Given the description of an element on the screen output the (x, y) to click on. 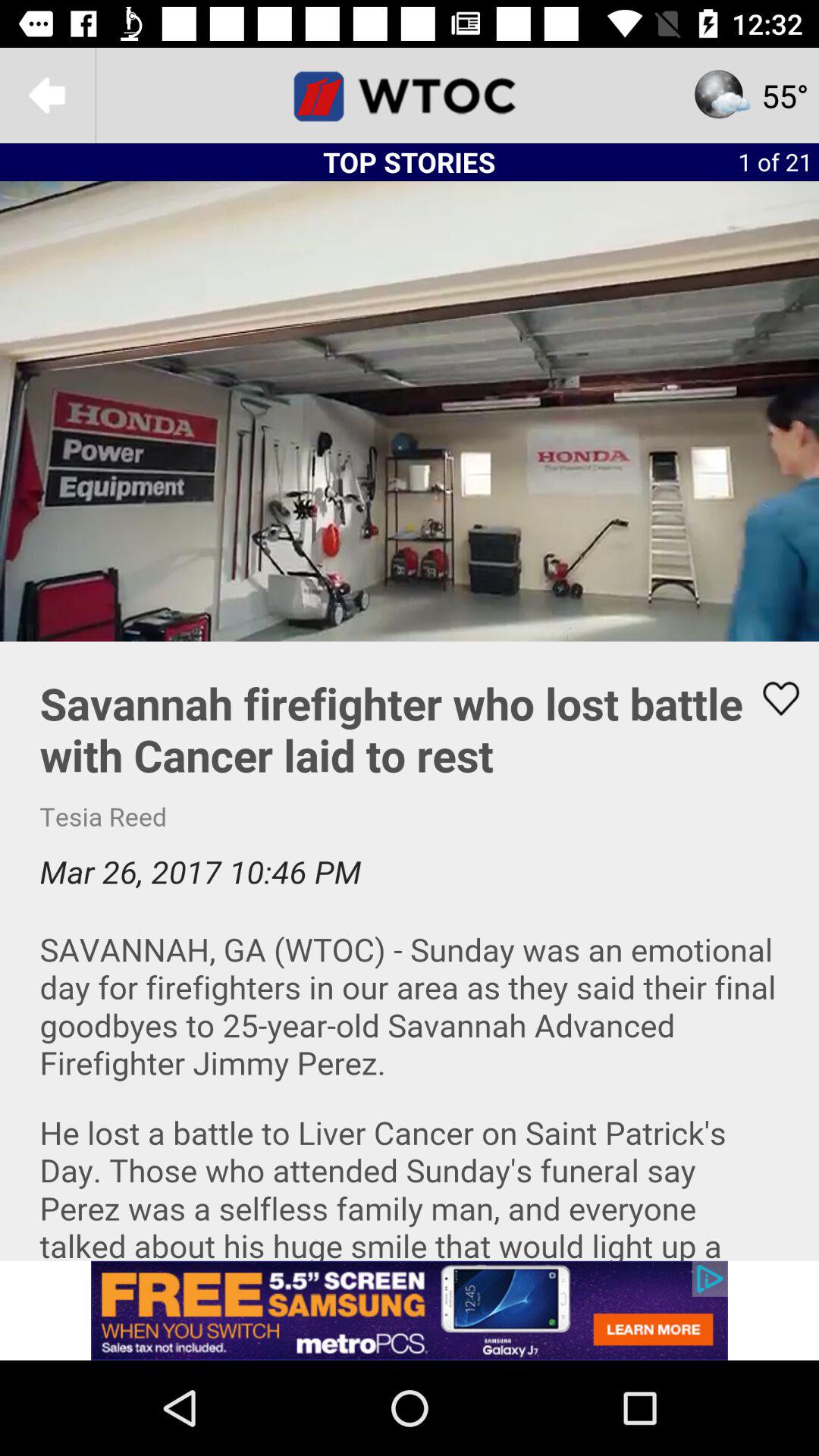
likes (771, 698)
